Given the description of an element on the screen output the (x, y) to click on. 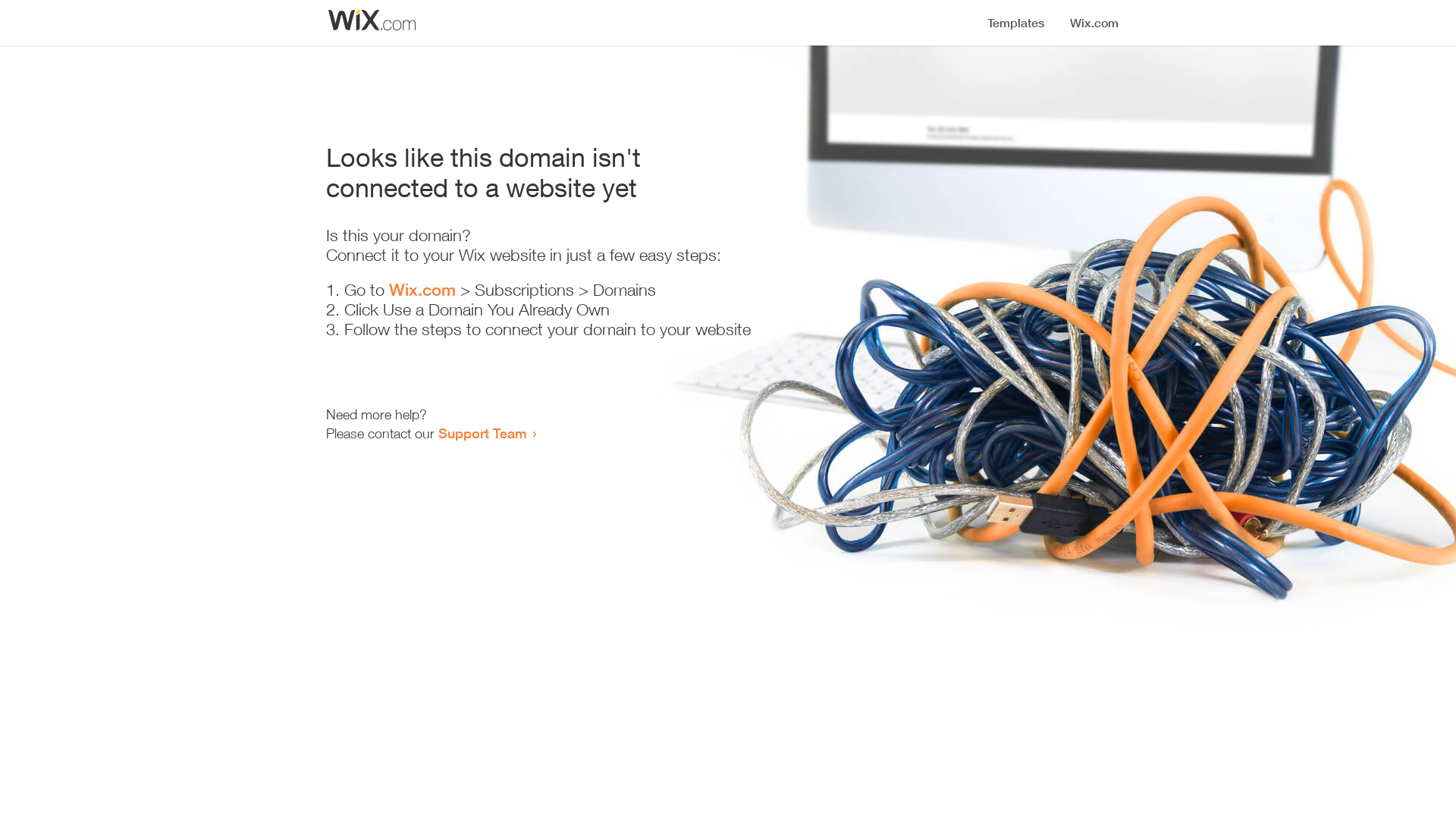
Wix.com Element type: text (422, 289)
Support Team Element type: text (482, 432)
